Given the description of an element on the screen output the (x, y) to click on. 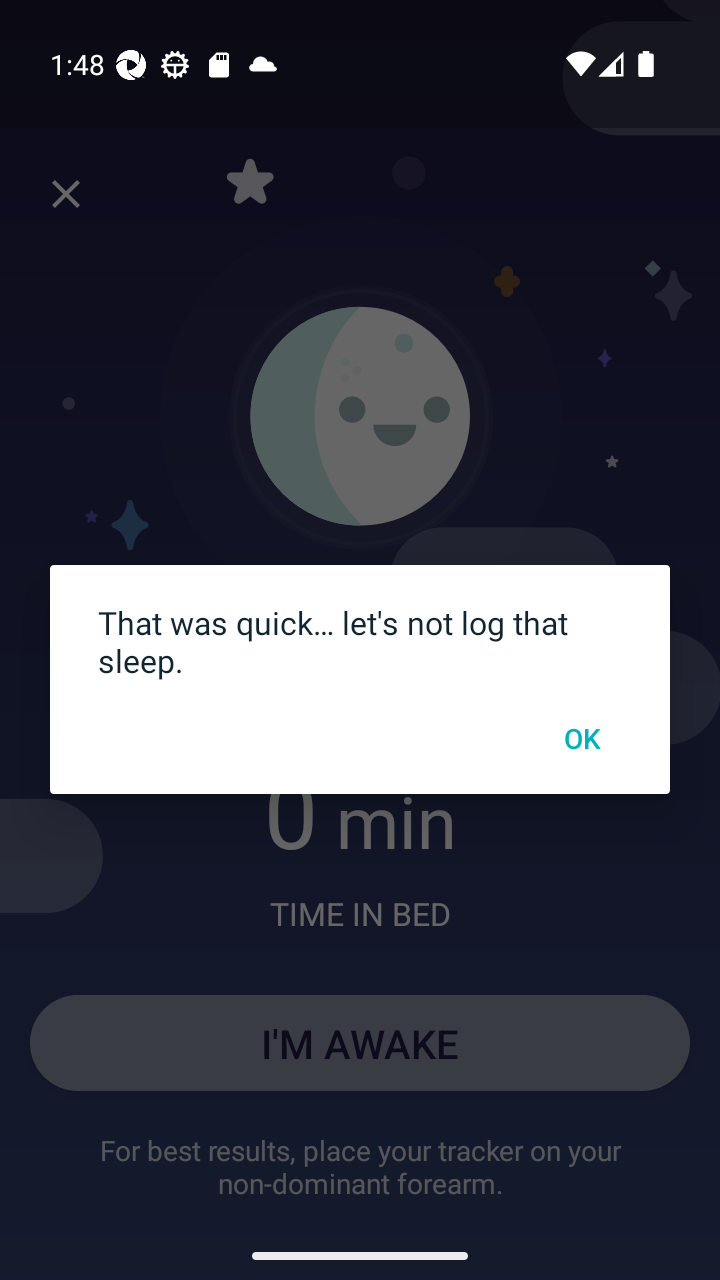
OK (581, 737)
